Given the description of an element on the screen output the (x, y) to click on. 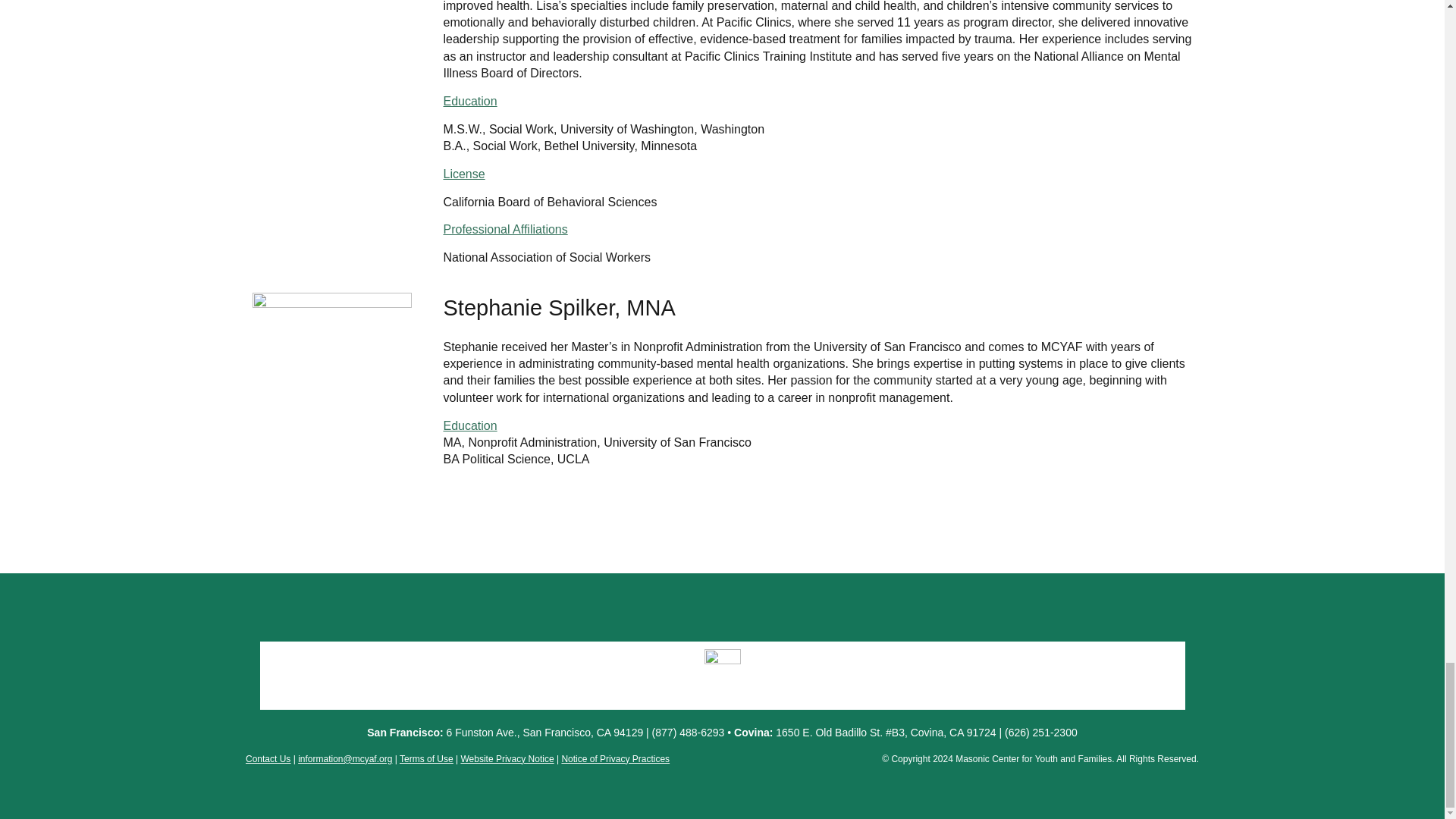
Website Privacy Notice (506, 758)
Notice of Privacy Practices (614, 758)
Contact Us (267, 758)
Terms of Use (425, 758)
